Given the description of an element on the screen output the (x, y) to click on. 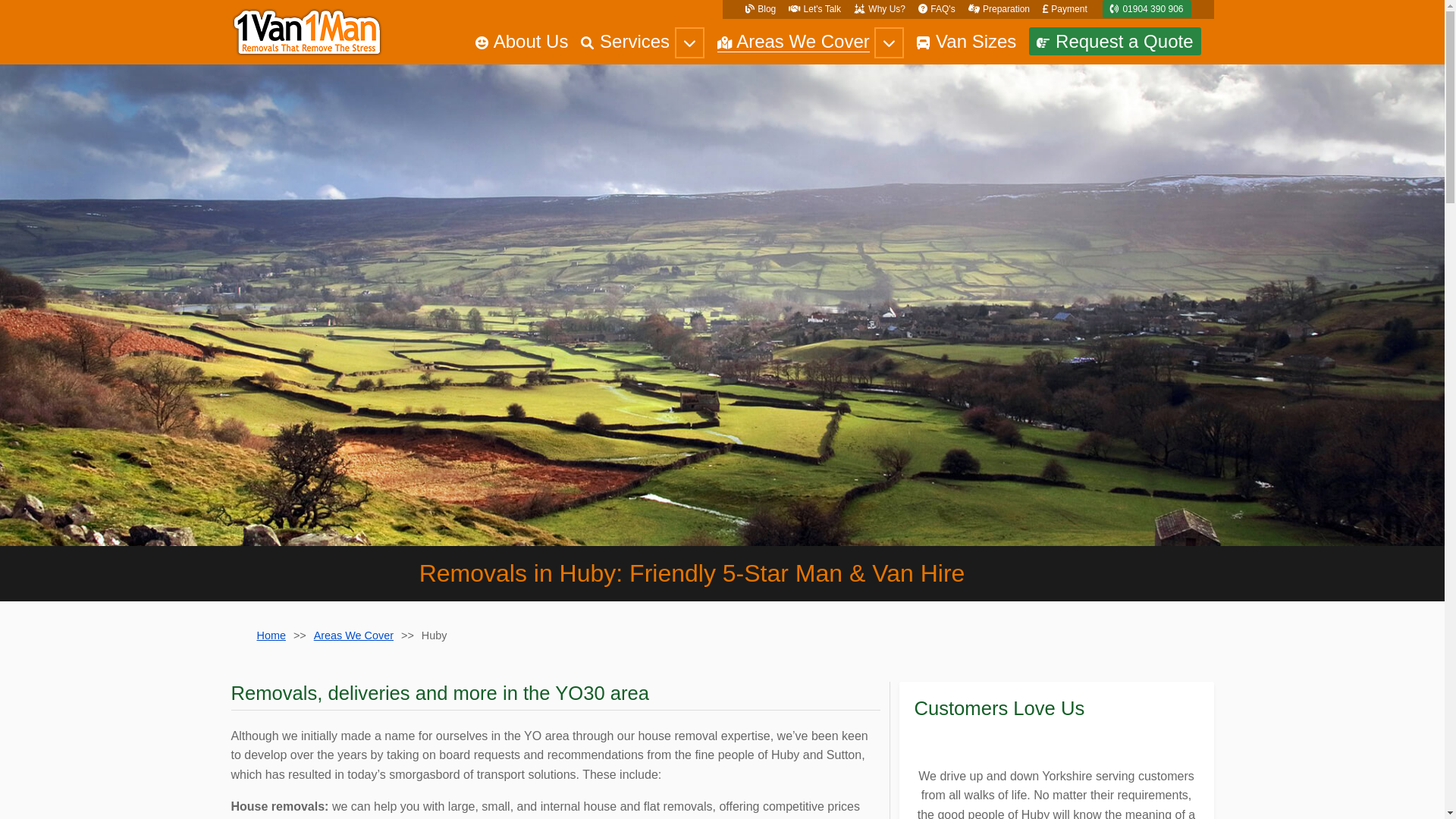
Preparation Element type: text (998, 9)
Home Element type: text (270, 635)
Van Sizes Element type: text (966, 41)
Payment Element type: text (1064, 9)
Why Us? Element type: text (879, 9)
Areas We Cover Element type: text (353, 635)
Blog Element type: text (760, 9)
01904 390 906 Element type: text (1146, 9)
Removals in Huby: Friendly 5-Star Man & Van Hire Element type: hover (722, 305)
About Us Element type: text (521, 41)
Let's Talk Element type: text (814, 9)
Services Element type: text (624, 41)
Areas We Cover Element type: text (793, 41)
Removals That Remove The Stress Element type: hover (306, 31)
FAQ's Element type: text (936, 9)
Request a Quote Element type: text (1114, 41)
York removal company Element type: hover (914, 745)
